Given the description of an element on the screen output the (x, y) to click on. 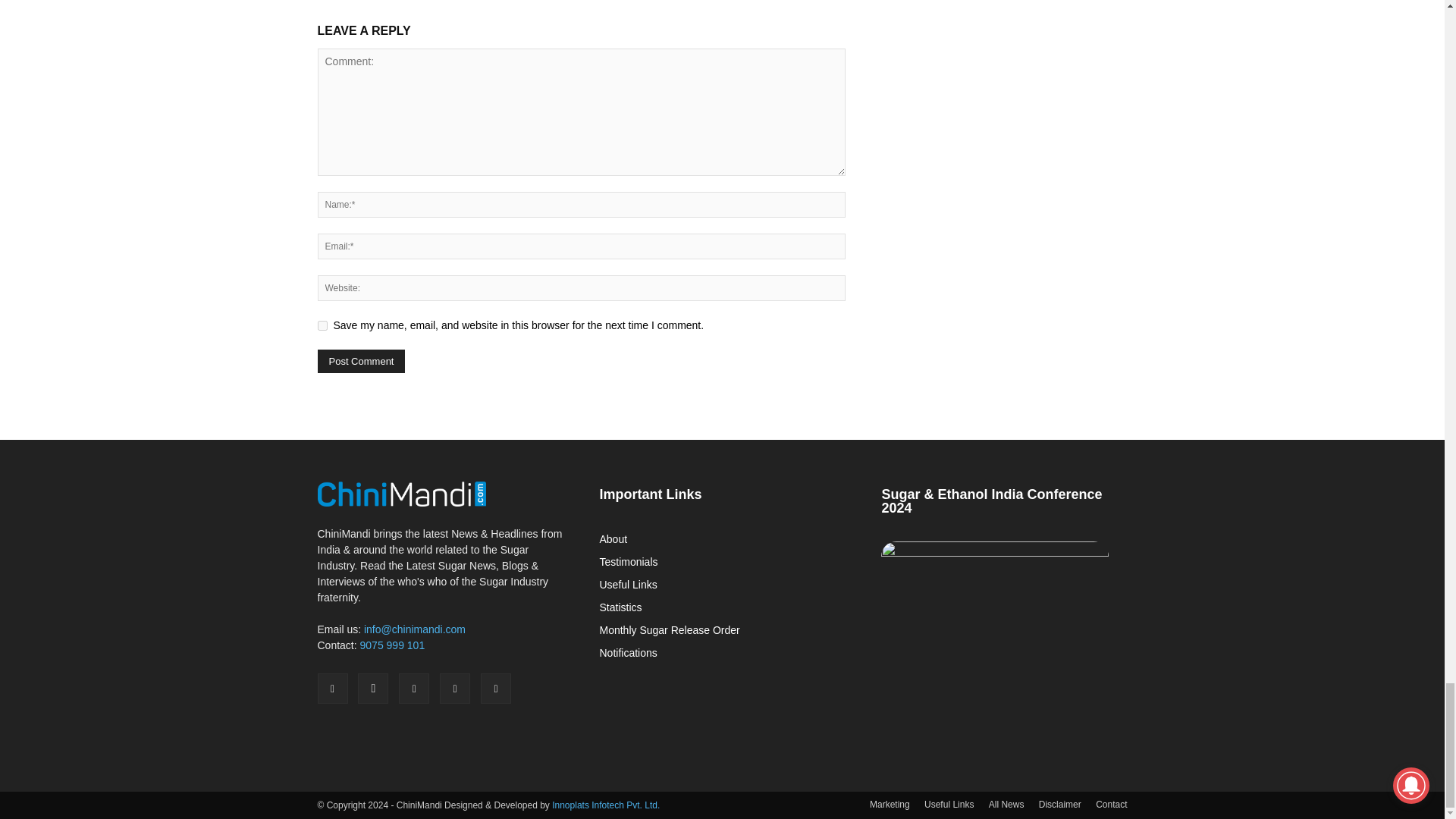
yes (321, 325)
Post Comment (360, 361)
